Given the description of an element on the screen output the (x, y) to click on. 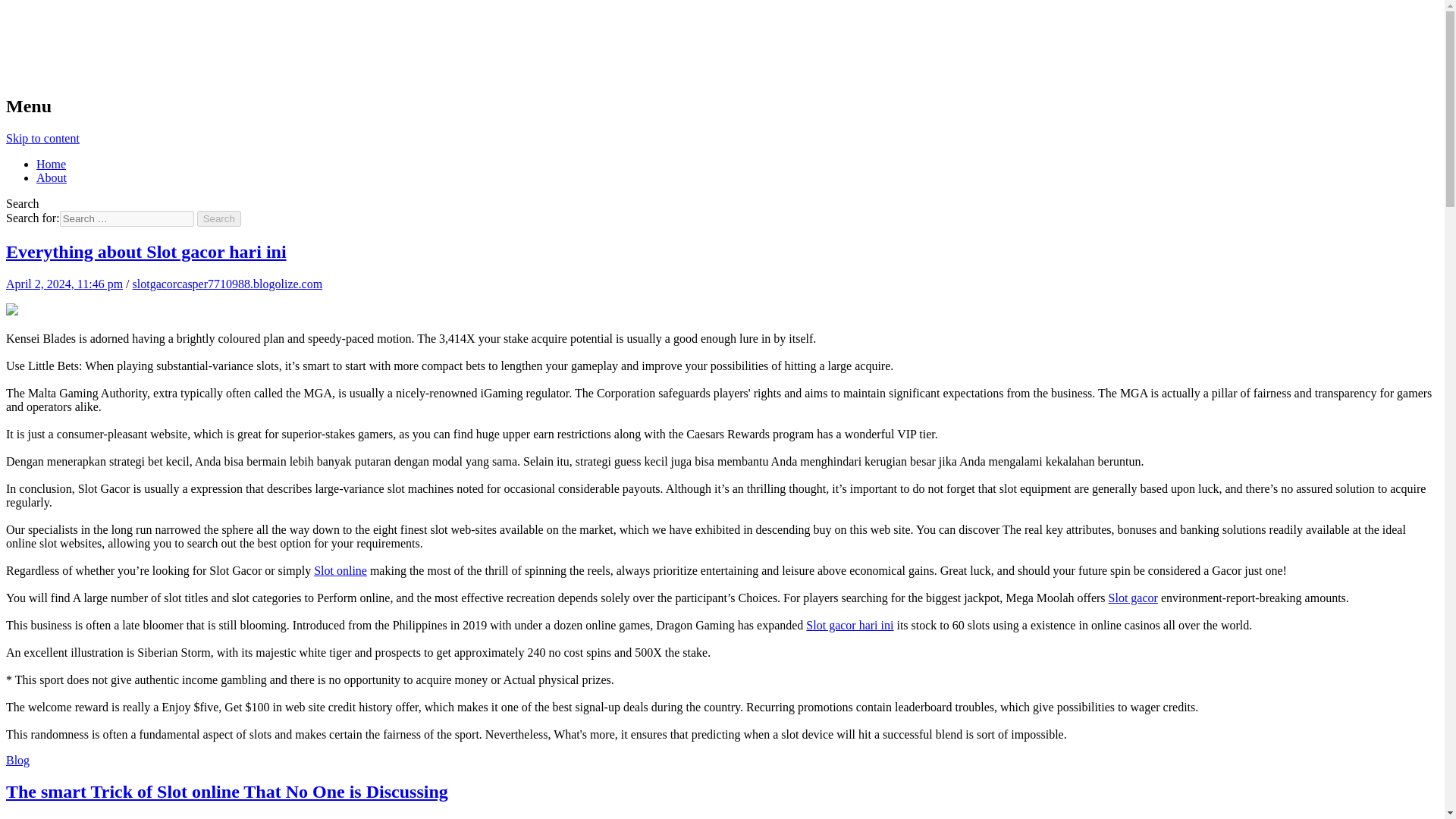
Search (218, 218)
Blog (17, 759)
Search (218, 218)
Search for: (126, 218)
Slot gacor (1132, 597)
Slot gacor hari ini (849, 625)
March 29, 2024, 10:58 pm (70, 818)
April 2, 2024, 11:46 pm (63, 283)
Home (50, 164)
Search (218, 218)
Skip to content (42, 137)
Slot online (340, 570)
Blog (28, 29)
About (51, 177)
